Given the description of an element on the screen output the (x, y) to click on. 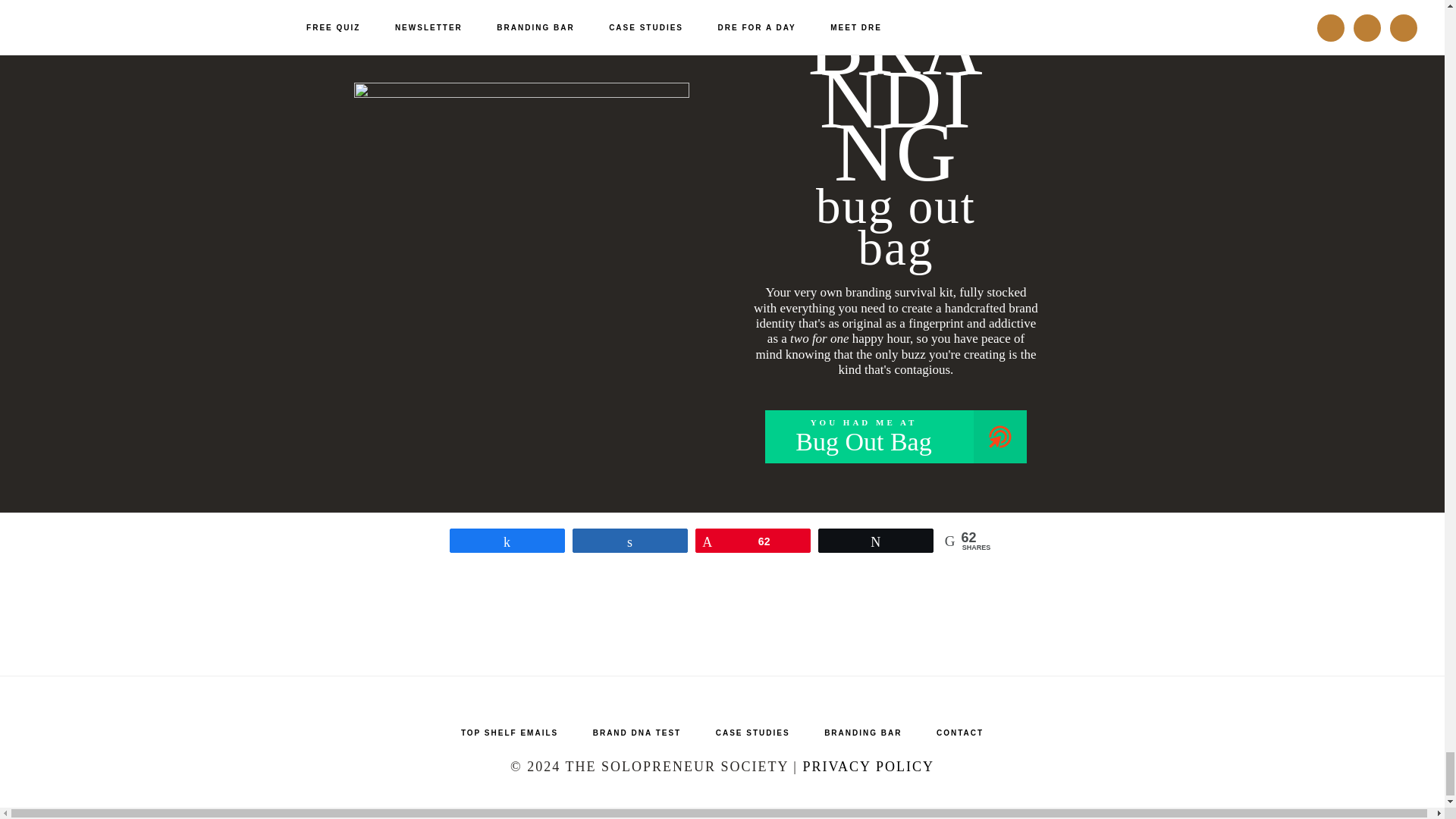
TOP SHELF EMAILS (509, 736)
BRANDING BAR (863, 736)
CONTACT (959, 736)
CASE STUDIES (895, 436)
62 (752, 736)
PRIVACY POLICY (752, 540)
BRAND DNA TEST (868, 766)
